Given the description of an element on the screen output the (x, y) to click on. 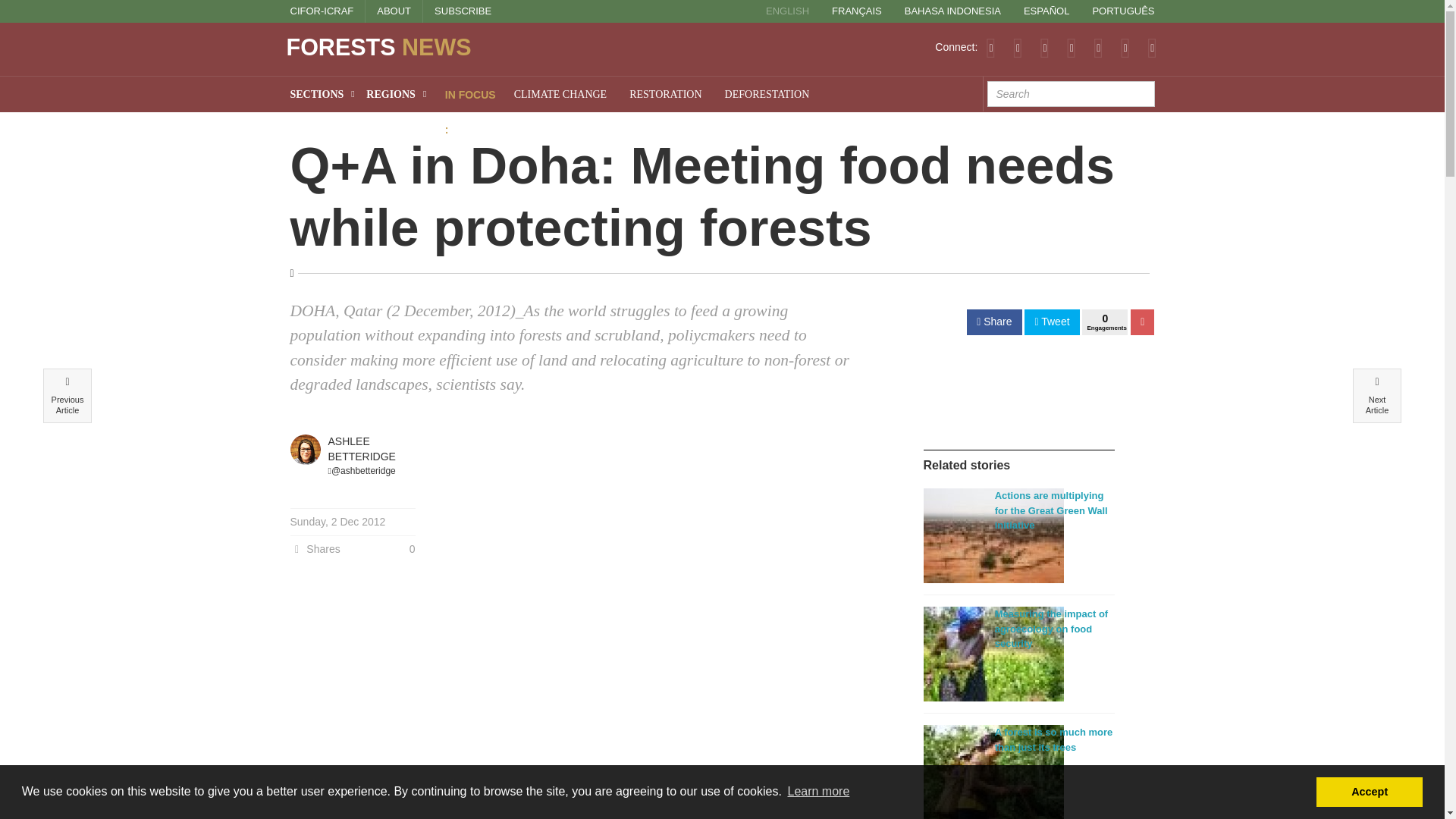
Share on Facebook (994, 321)
Facebook (1044, 46)
CIFOR-ICRAF (321, 10)
Accept (1369, 791)
Youtube (1098, 46)
Learn more (817, 791)
Twitter (1017, 46)
Instagram (1125, 46)
Feed (990, 46)
Email (1152, 46)
ENGLISH (787, 11)
LinkedIn (1071, 46)
ABOUT (393, 10)
BAHASA INDONESIA (952, 11)
SUBSCRIBE (462, 10)
